Given the description of an element on the screen output the (x, y) to click on. 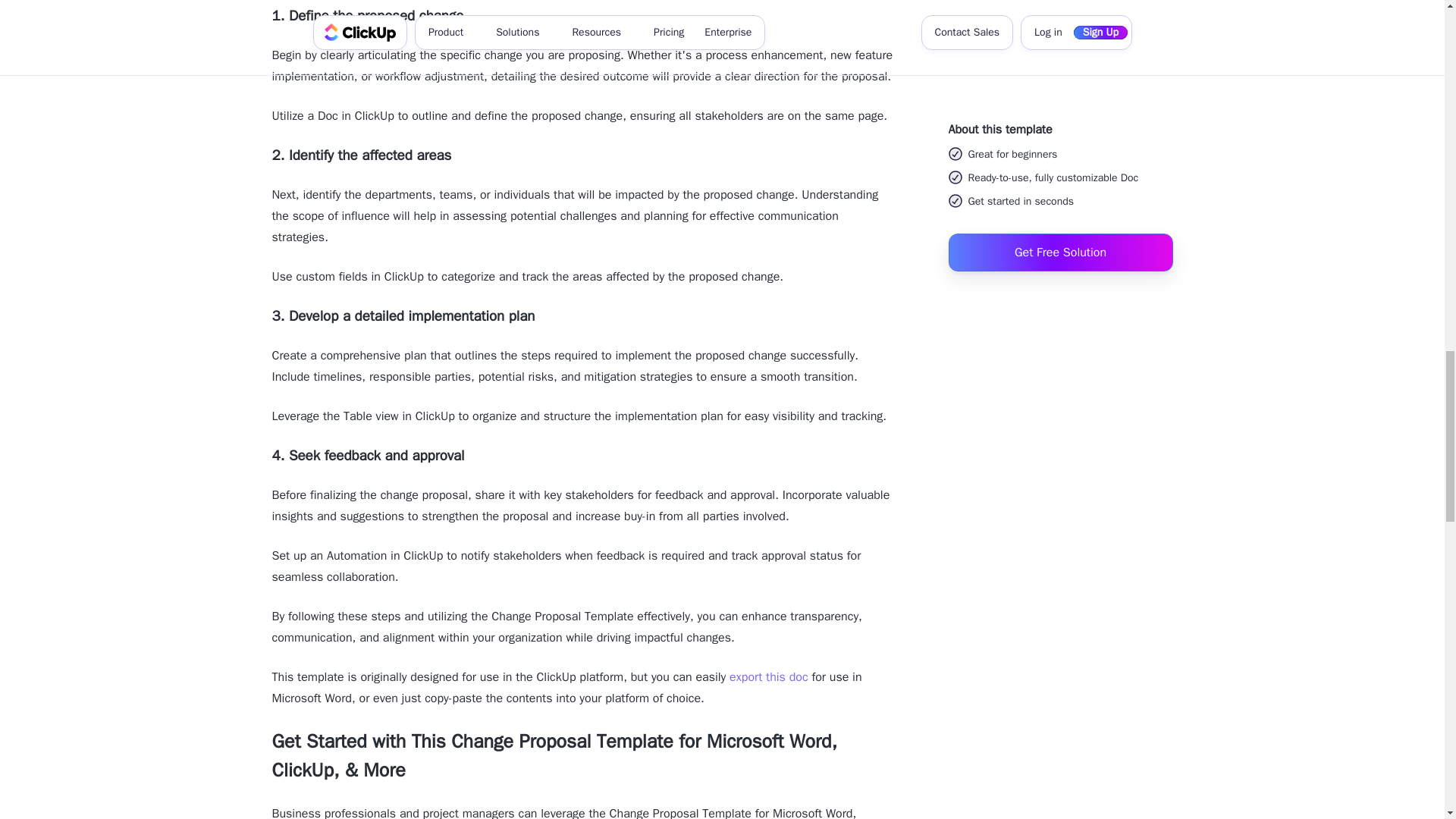
export this doc (768, 676)
